Given the description of an element on the screen output the (x, y) to click on. 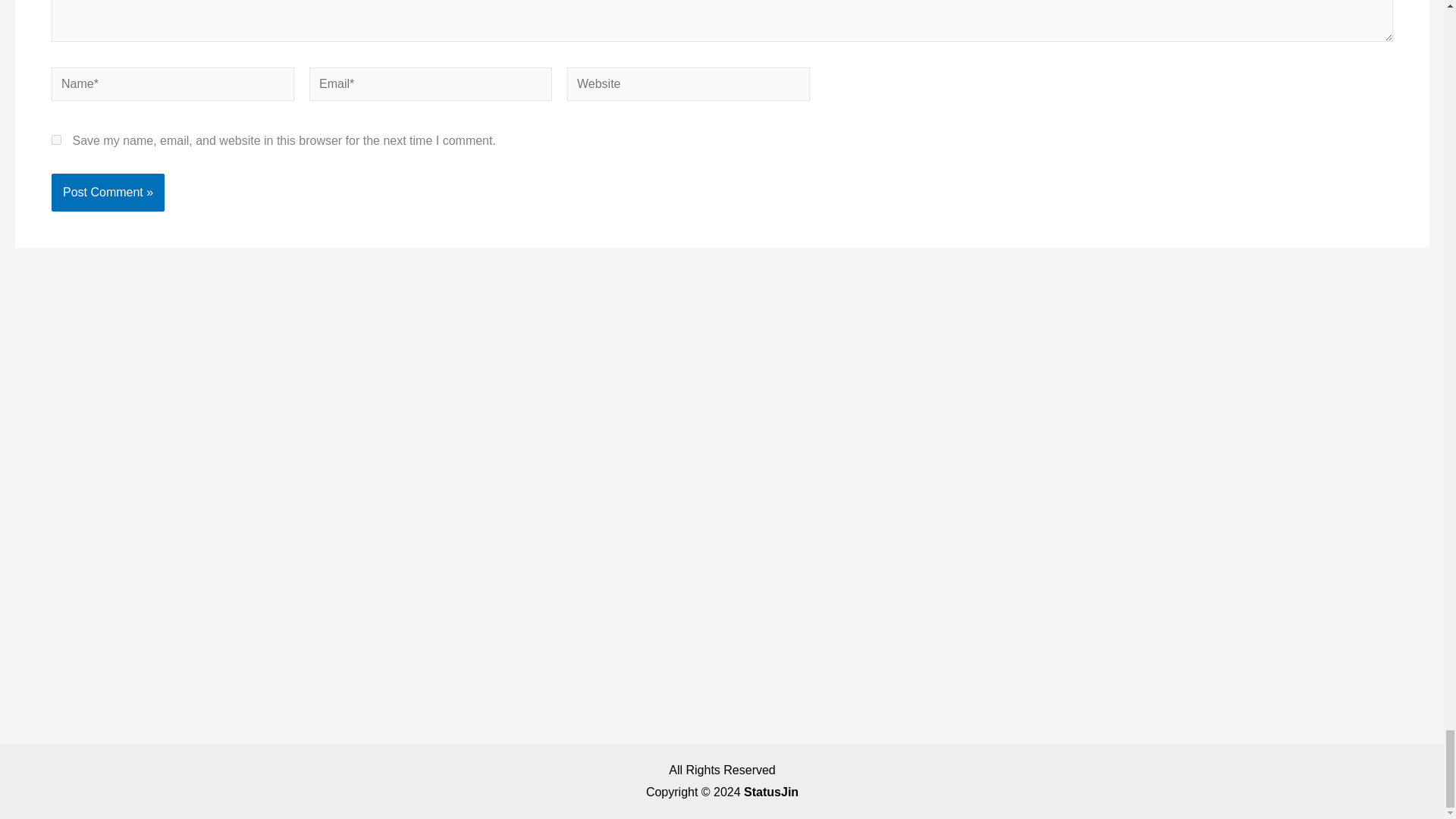
yes (55, 139)
